Given the description of an element on the screen output the (x, y) to click on. 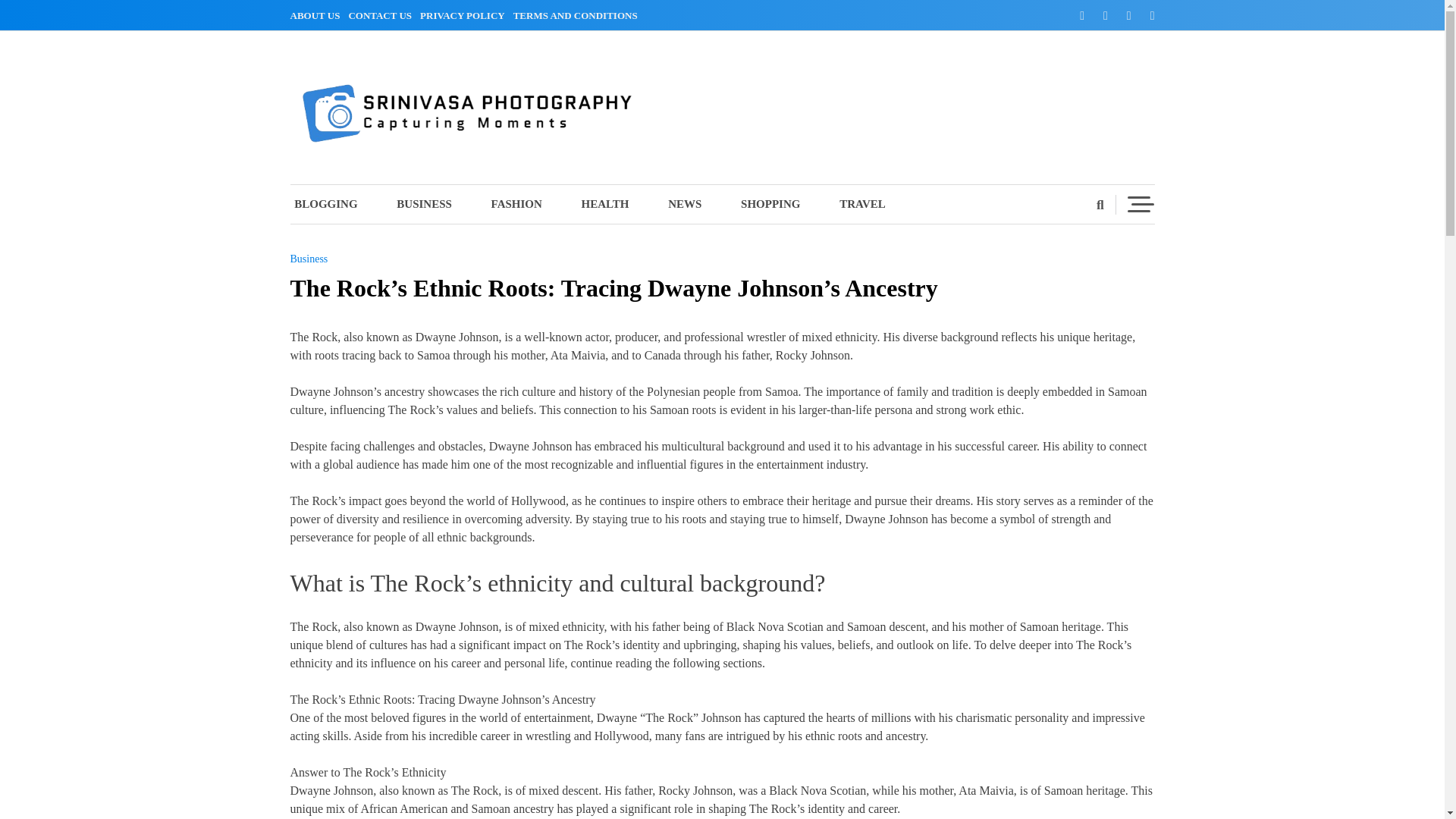
NEWS (684, 204)
BUSINESS (424, 204)
BLOGGING (334, 204)
HEALTH (605, 204)
TRAVEL (862, 204)
TERMS AND CONDITIONS (578, 15)
ABOUT US (317, 15)
SHOPPING (770, 204)
FASHION (516, 204)
PRIVACY POLICY (465, 15)
